Given the description of an element on the screen output the (x, y) to click on. 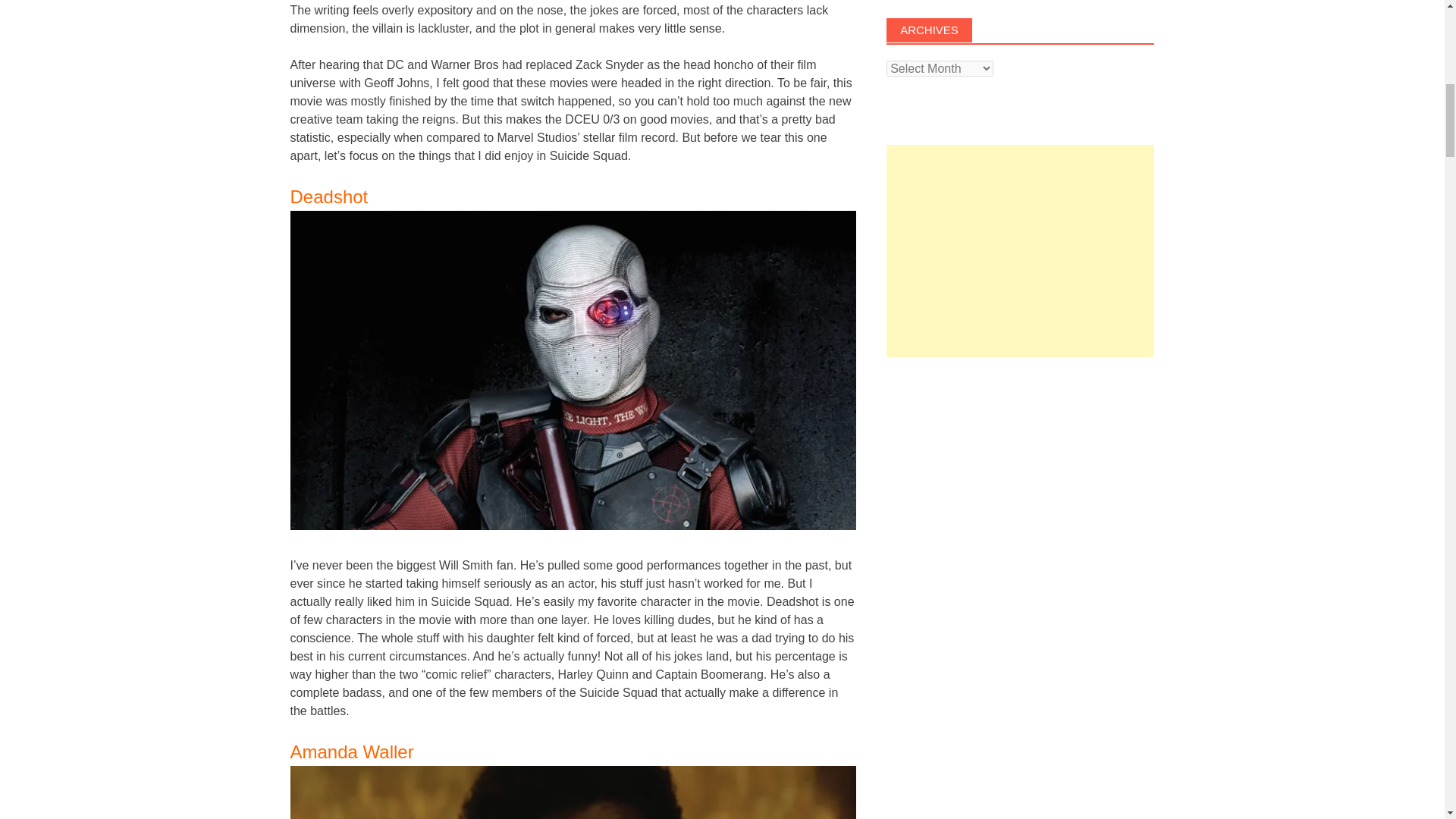
Advertisement (1020, 481)
